Given the description of an element on the screen output the (x, y) to click on. 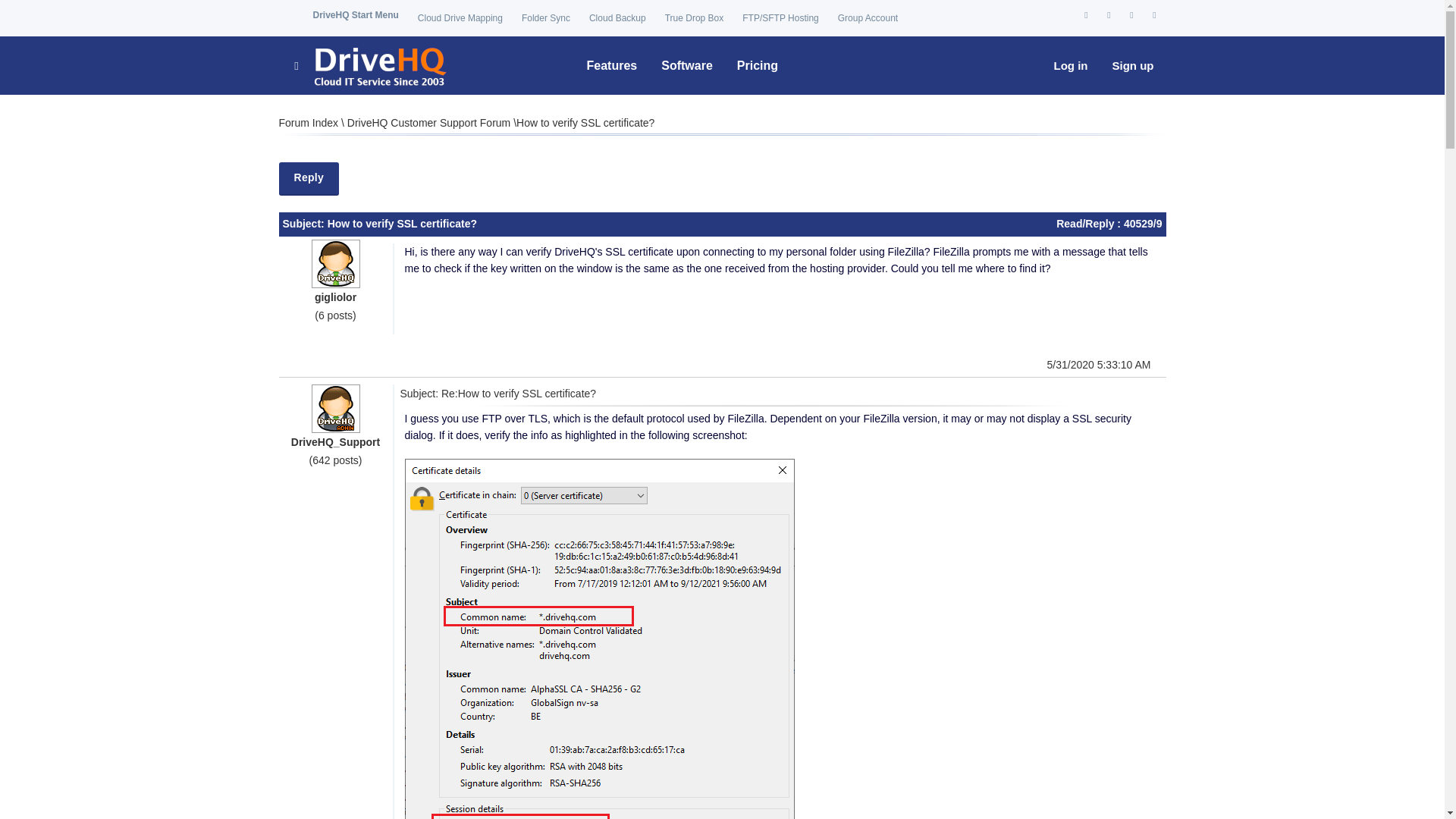
Group Account (868, 18)
Cloud Backup (617, 18)
Cloud Drive Mapping (459, 18)
Complete FTP Server hosting solution (780, 18)
True Drop Box (694, 18)
DriveHQ Cloud IT Service Home (369, 65)
DriveHQ Start Menu (355, 15)
Folder Sync (545, 18)
Automatically back up PC, Mac and Server to the cloud (617, 18)
